Given the description of an element on the screen output the (x, y) to click on. 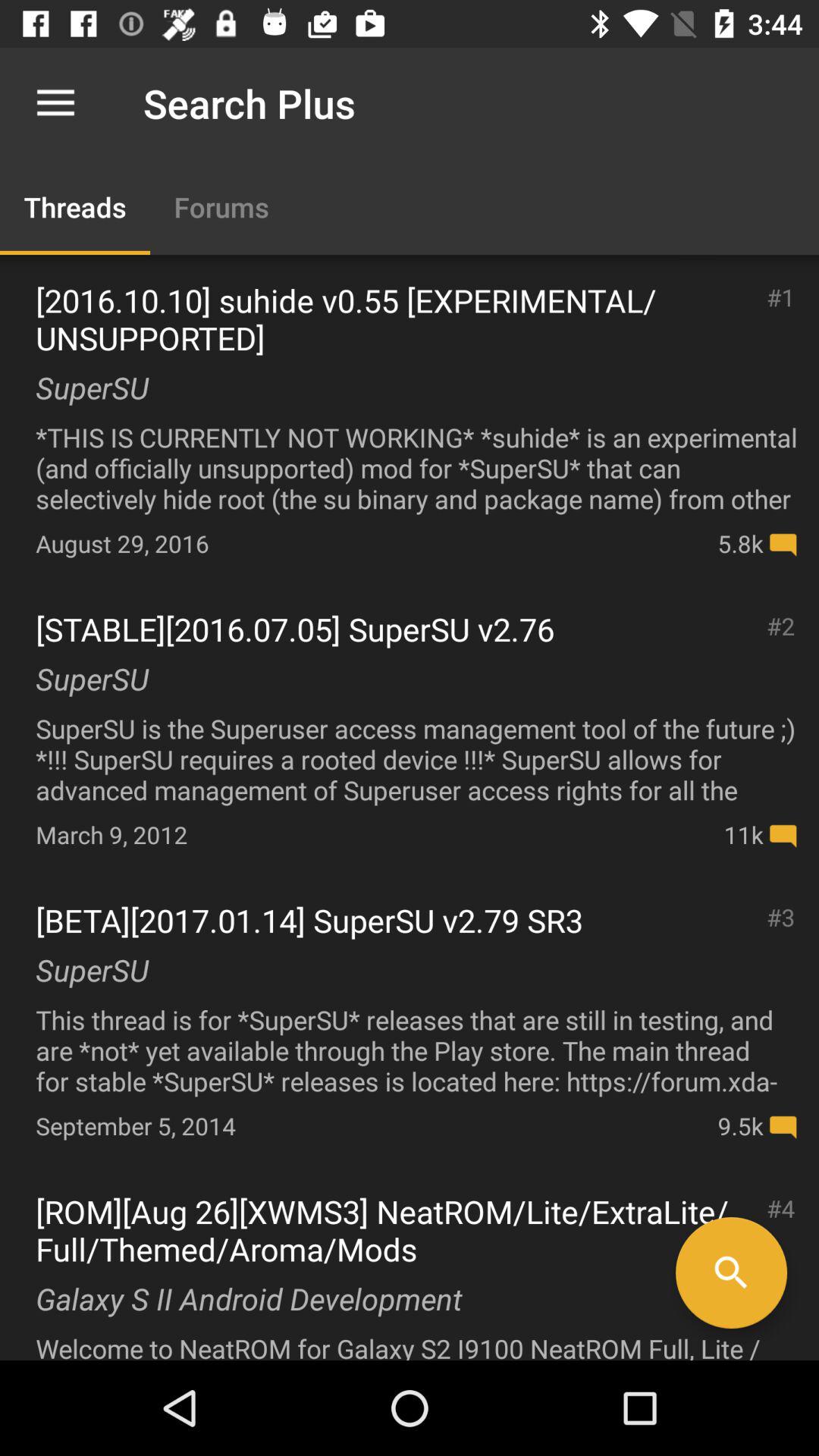
search button (731, 1272)
